Given the description of an element on the screen output the (x, y) to click on. 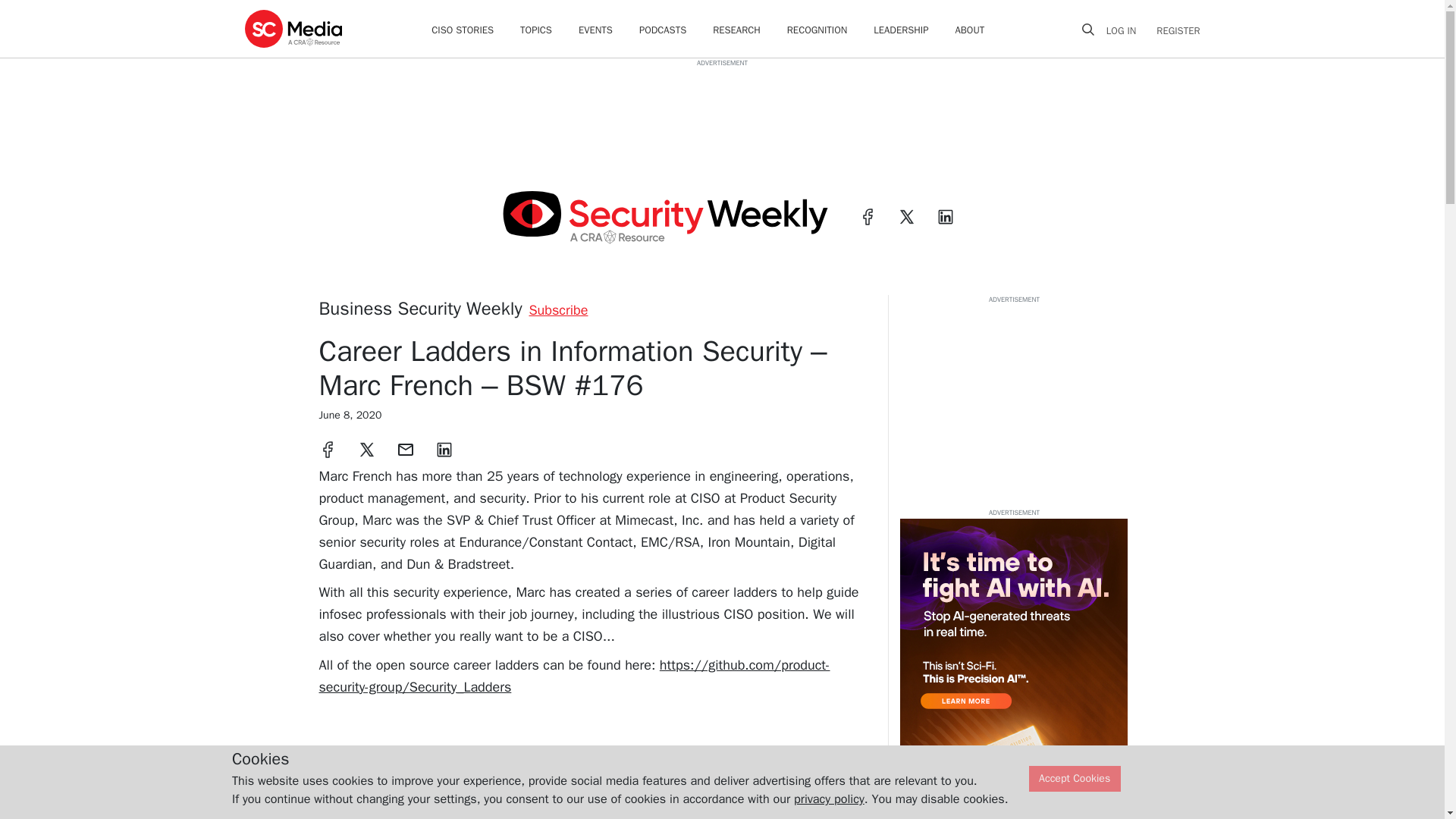
PODCASTS (662, 30)
ABOUT (970, 30)
Share via email (404, 449)
twitter (906, 217)
Share on LinkedIn (443, 449)
Share on Twitter (366, 449)
linkedin (945, 217)
TOPICS (535, 30)
Business Security Weekly (419, 308)
EVENTS (595, 30)
CISO STORIES (461, 30)
LOG IN (1126, 30)
facebook (868, 217)
Subscribe (558, 310)
Share on Facebook (327, 449)
